Given the description of an element on the screen output the (x, y) to click on. 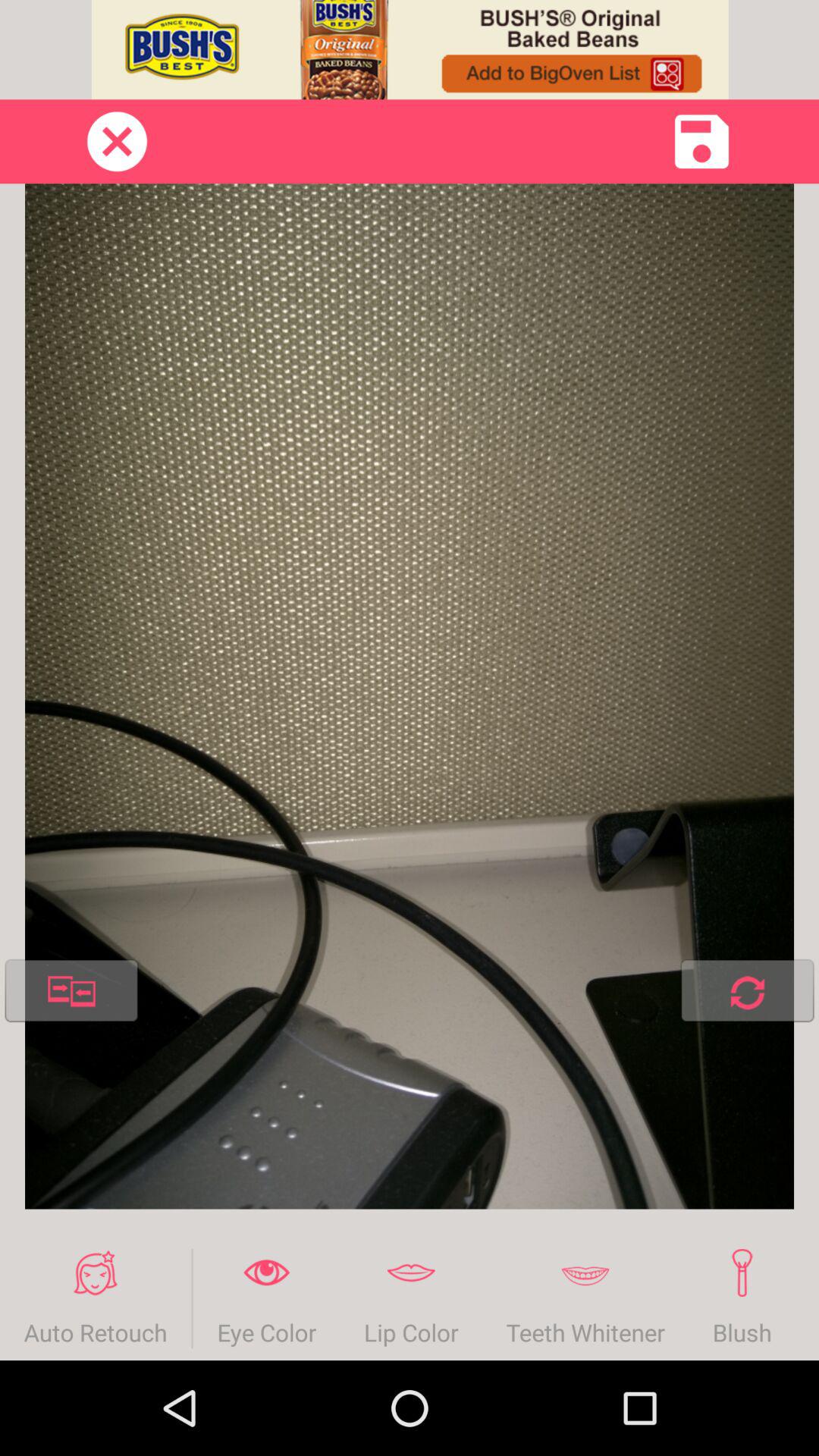
tap reset icon (747, 994)
